Given the description of an element on the screen output the (x, y) to click on. 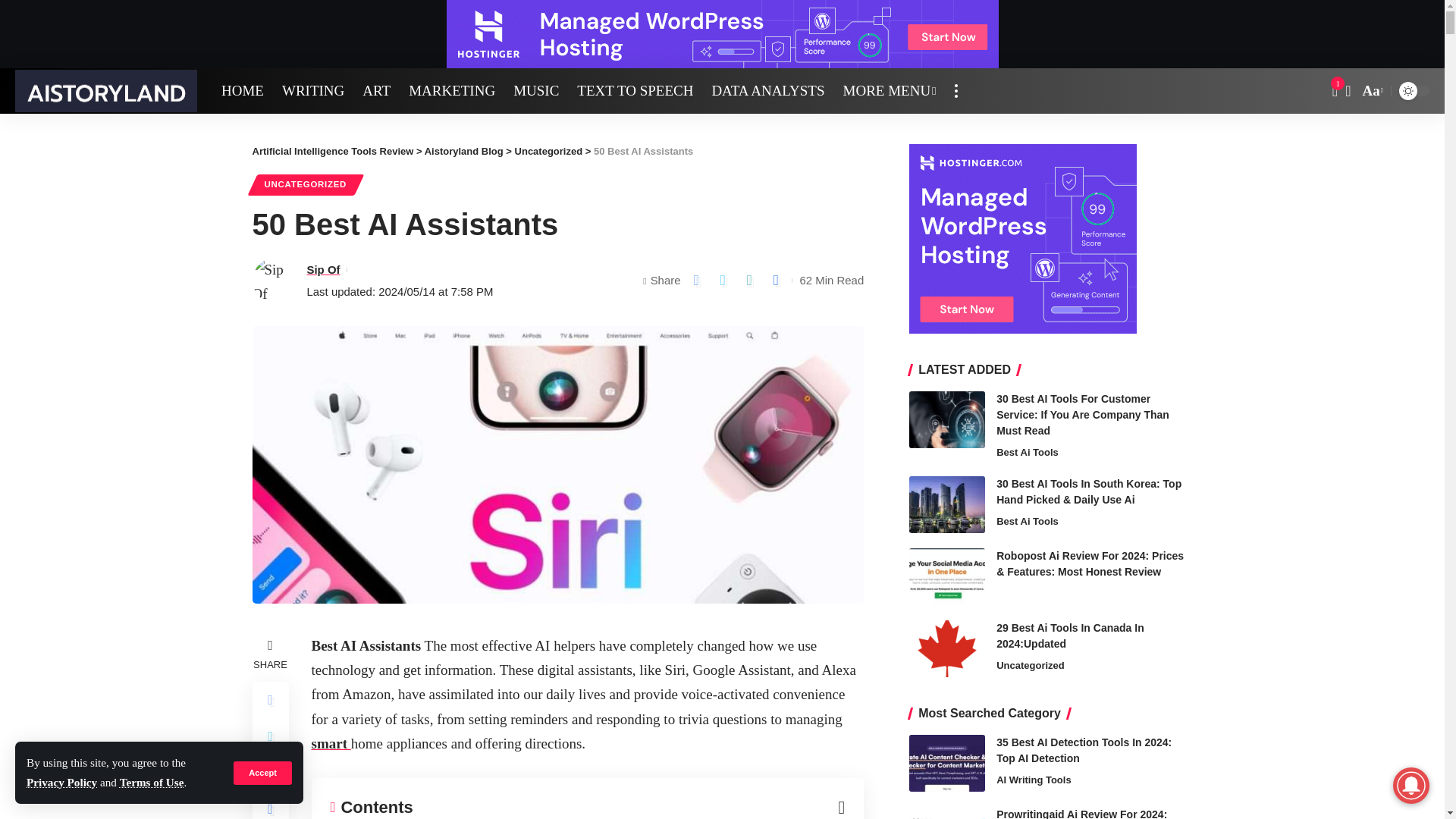
Terms of Use (151, 781)
Go to Aistoryland Blog. (464, 151)
HOME (242, 90)
Artificial Intelligence Tools Review (105, 90)
ART (375, 90)
Aa (1370, 90)
MORE MENU (889, 90)
Go to the Uncategorized Category archives. (549, 151)
MUSIC (535, 90)
MARKETING (450, 90)
Go to Artificial Intelligence Tools Review. (332, 151)
TEXT TO SPEECH (634, 90)
DATA ANALYSTS (766, 90)
